Given the description of an element on the screen output the (x, y) to click on. 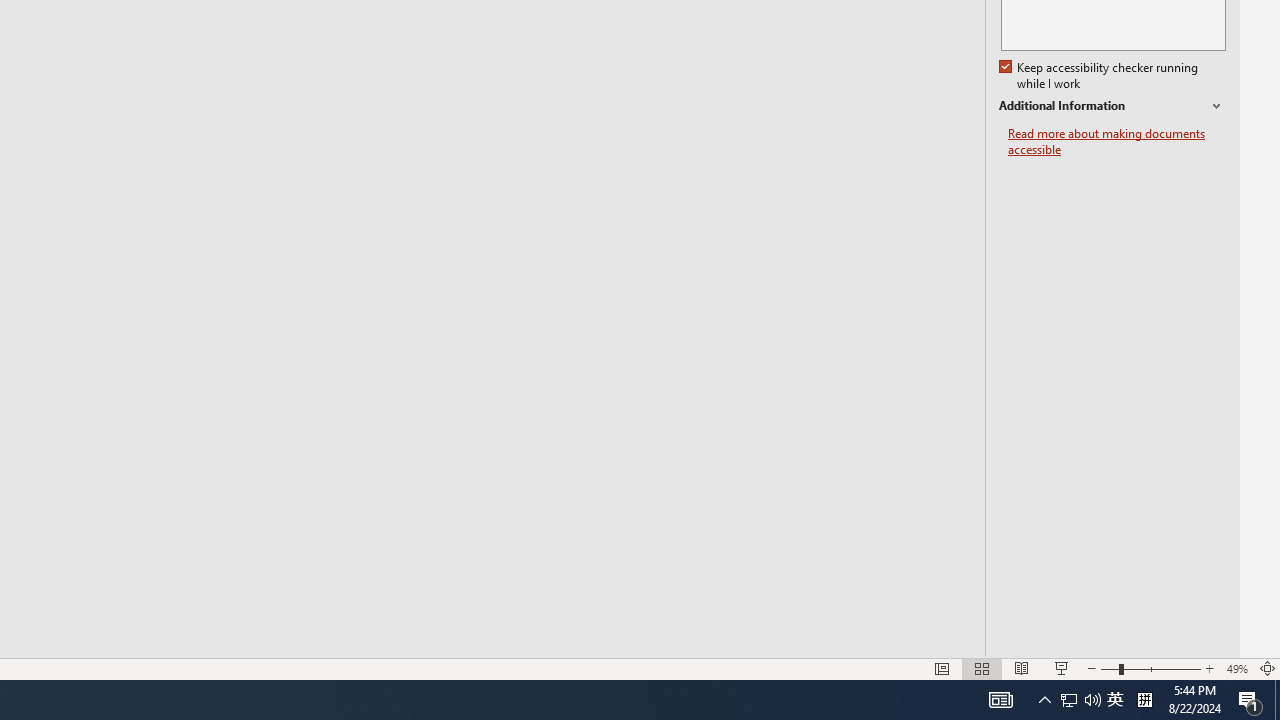
Zoom 49% (1236, 668)
